Given the description of an element on the screen output the (x, y) to click on. 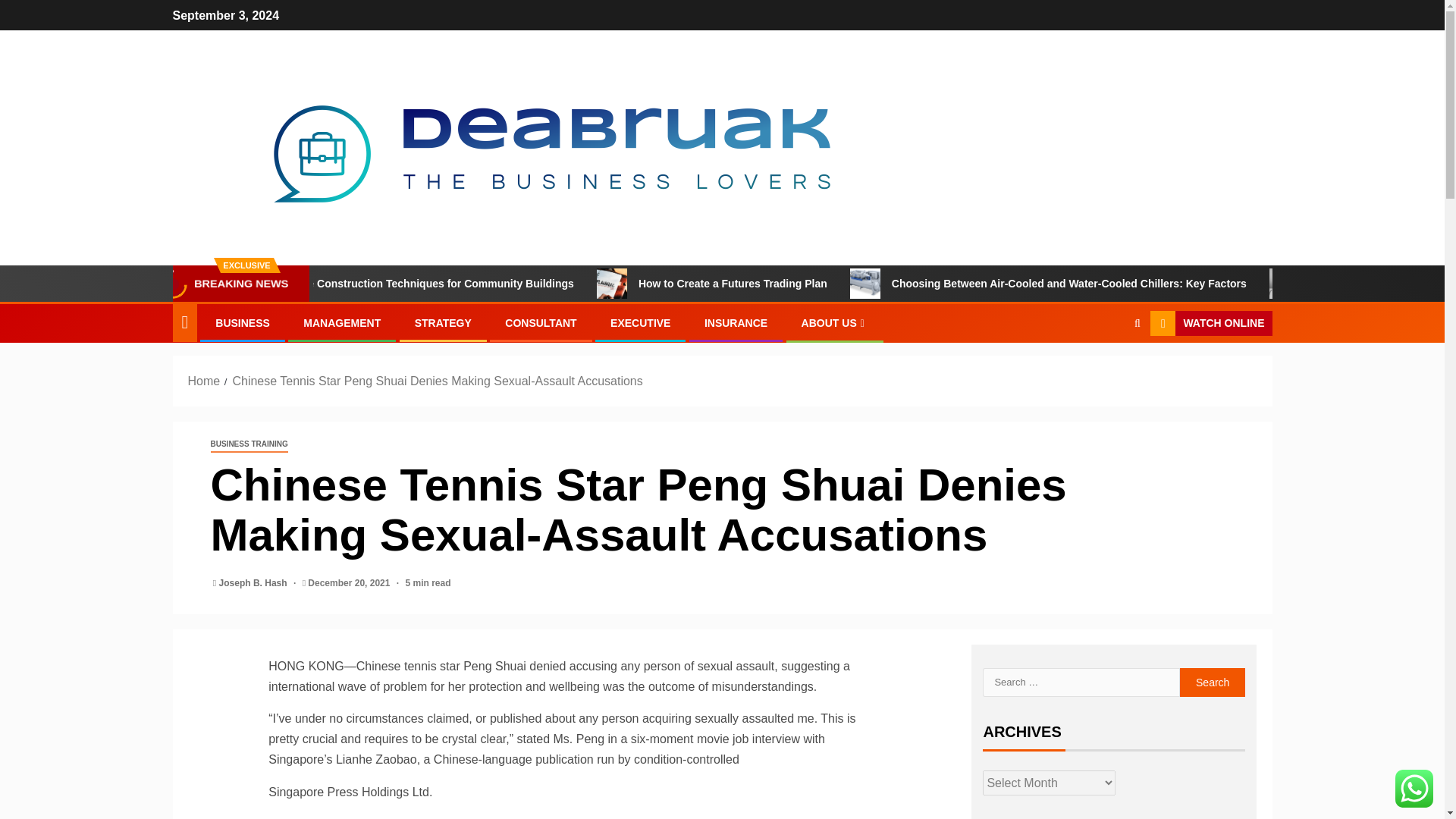
Search (1212, 682)
How to Create a Futures Trading Plan (680, 283)
ABOUT US (834, 322)
Joseph B. Hash (254, 583)
Search (1107, 369)
INSURANCE (735, 322)
STRATEGY (442, 322)
How to Create a Futures Trading Plan (813, 283)
WATCH ONLINE (1210, 323)
